Given the description of an element on the screen output the (x, y) to click on. 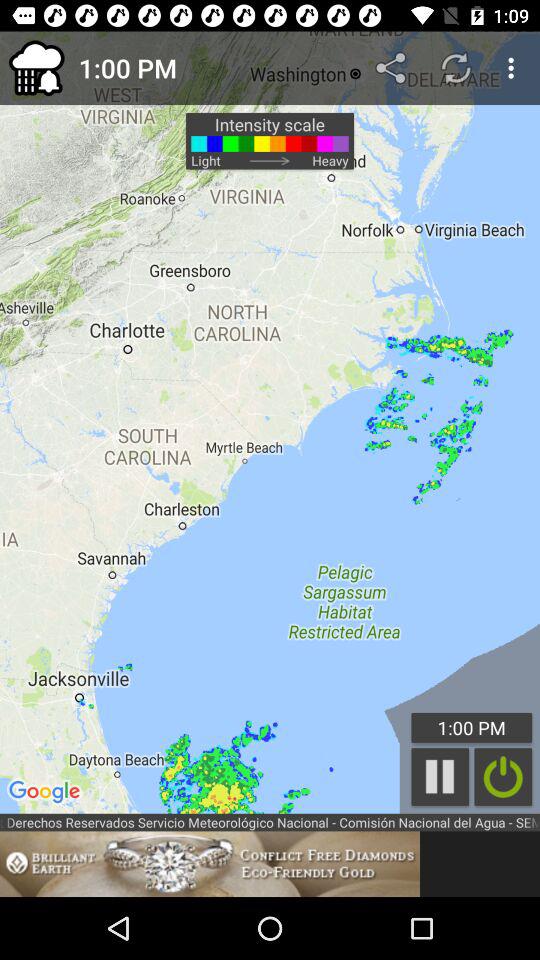
choose item next to 1:00 pm app (392, 67)
